Given the description of an element on the screen output the (x, y) to click on. 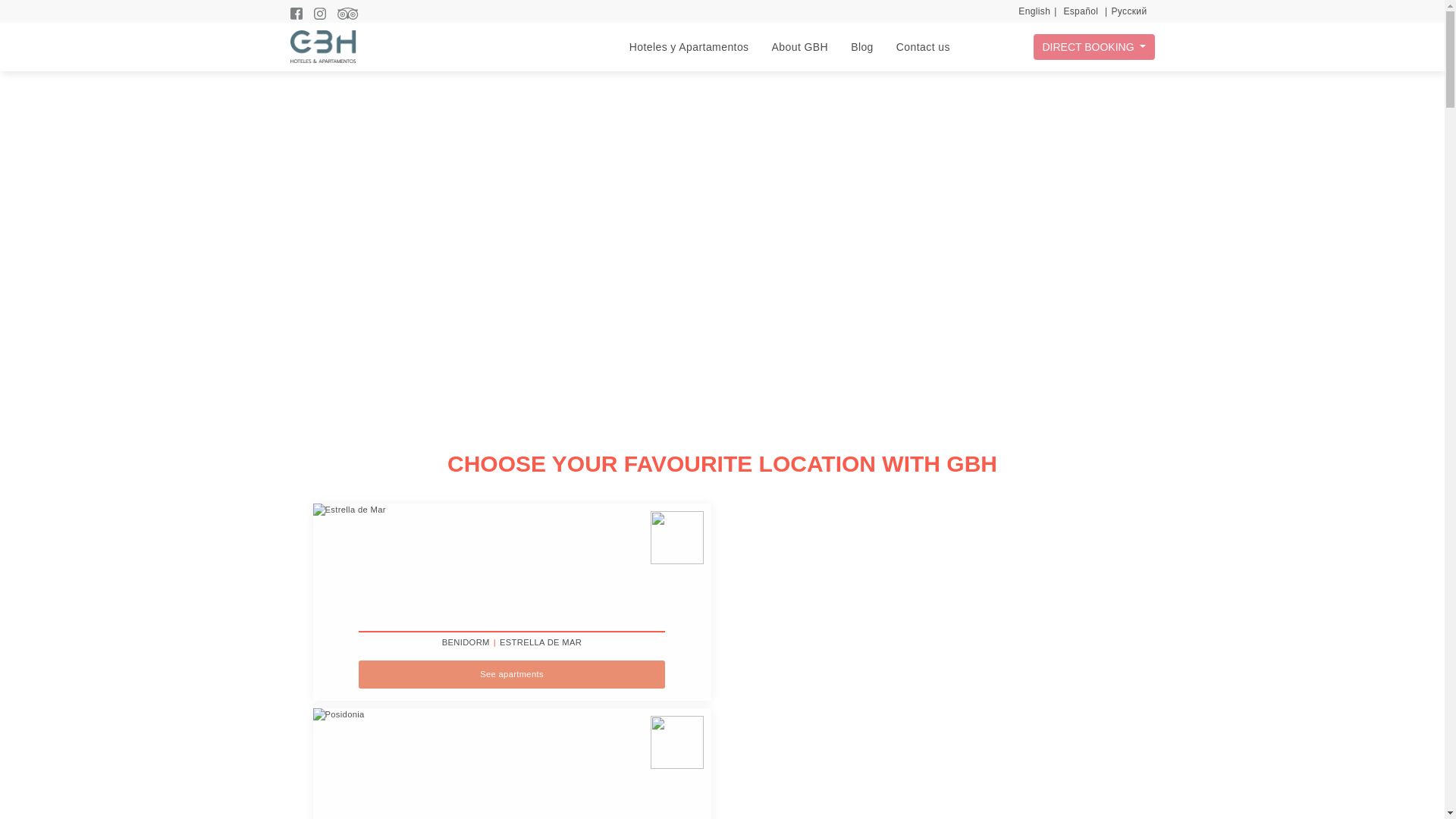
Hoteles y Apartamentos (688, 46)
Contact us (923, 46)
Blog (861, 46)
About GBH (799, 46)
See apartments (511, 674)
DIRECT BOOKING (1093, 46)
English (1033, 11)
